Given the description of an element on the screen output the (x, y) to click on. 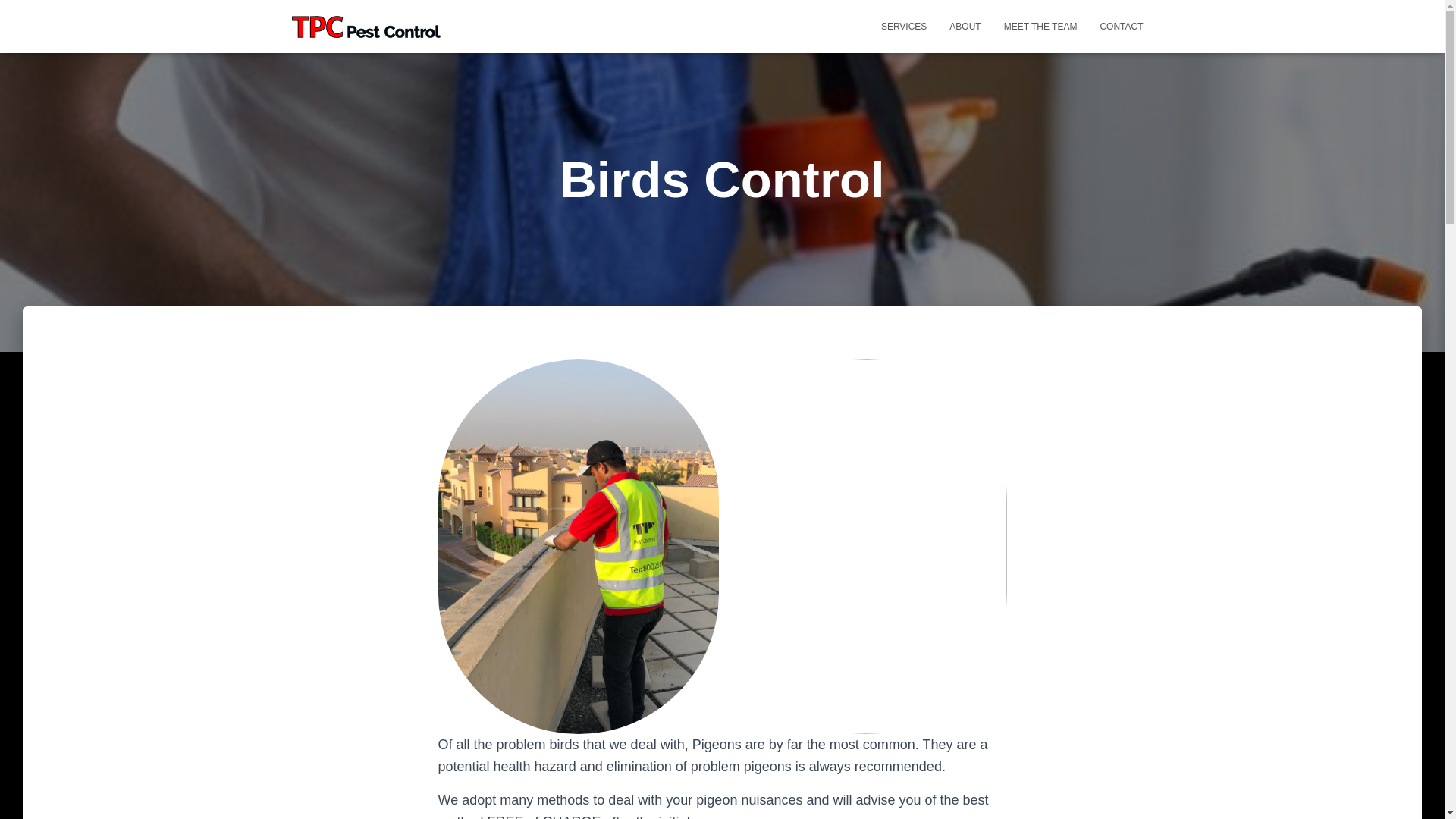
TPC Pest Control (365, 25)
MEET THE TEAM (1040, 26)
CONTACT (1120, 26)
Contact (1120, 26)
Services (903, 26)
SERVICES (903, 26)
ABOUT (964, 26)
Meet the Team (1040, 26)
About (964, 26)
